Given the description of an element on the screen output the (x, y) to click on. 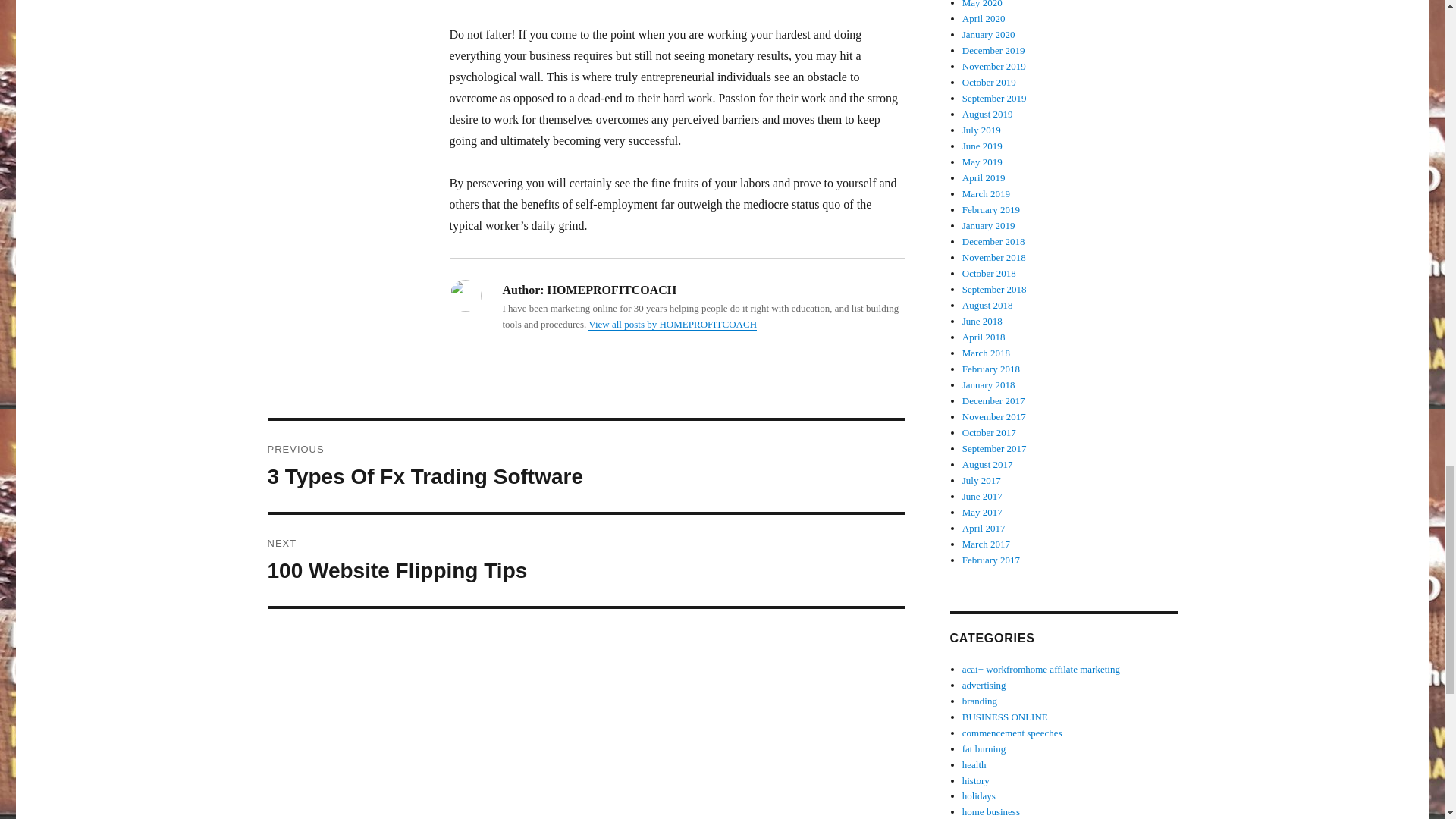
View all posts by HOMEPROFITCOACH (585, 465)
